Given the description of an element on the screen output the (x, y) to click on. 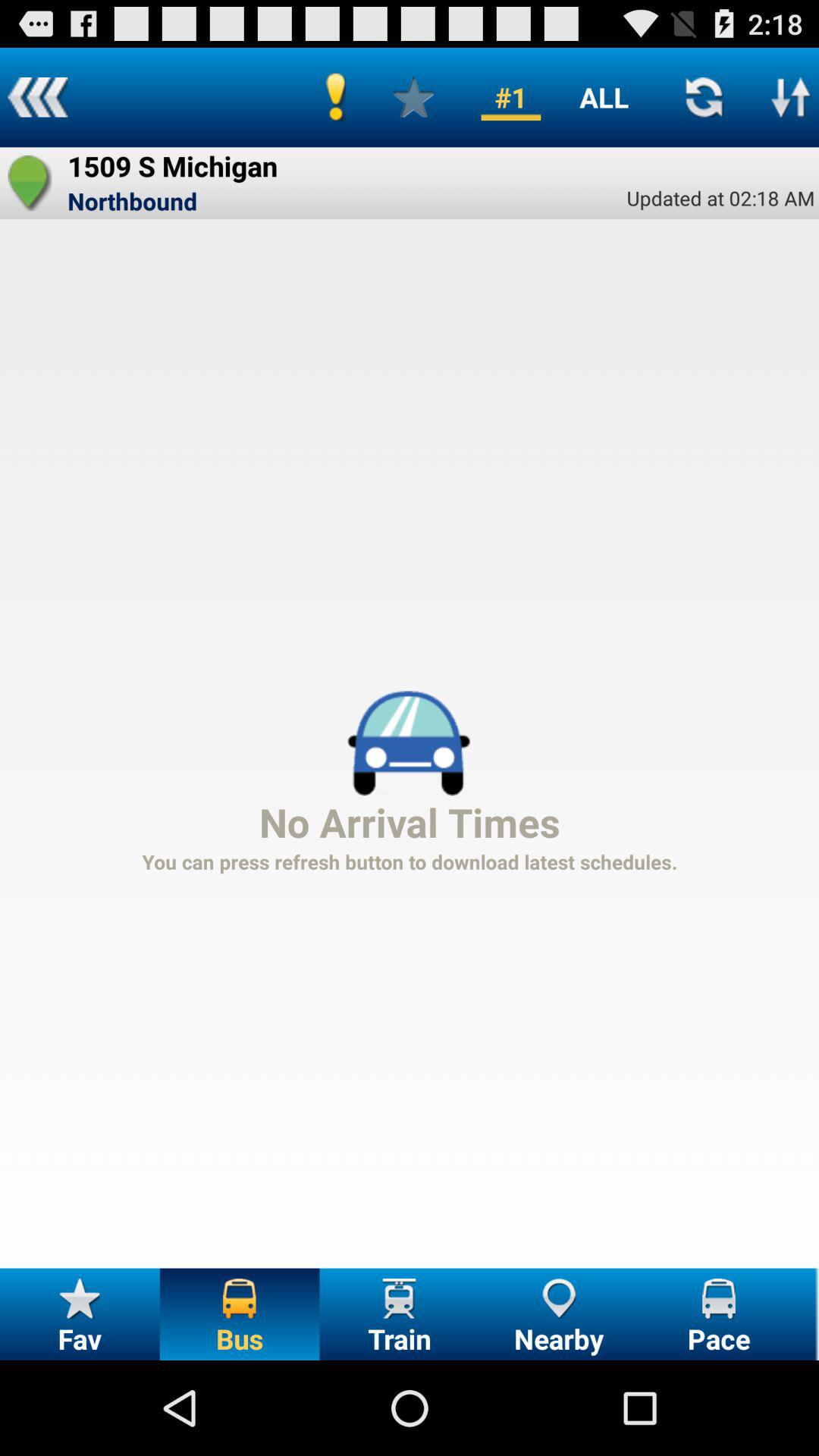
press the   #1   button (510, 97)
